Given the description of an element on the screen output the (x, y) to click on. 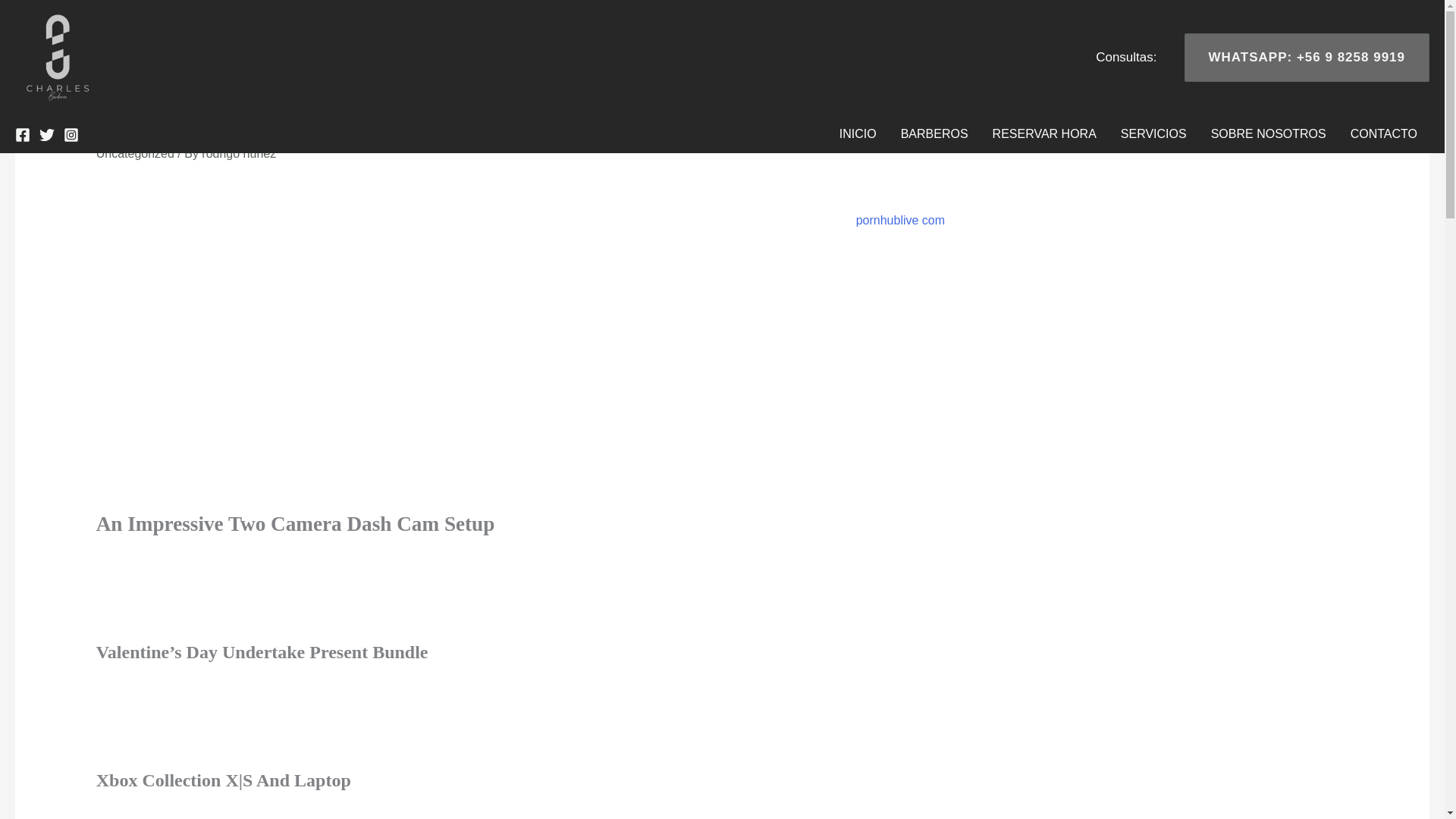
RESERVAR HORA (1043, 134)
rodrigo nunez (239, 153)
SERVICIOS (1153, 134)
CONTACTO (1383, 134)
BARBEROS (933, 134)
INICIO (857, 134)
View all posts by rodrigo nunez (239, 153)
pornhublive com (900, 219)
Uncategorized (135, 153)
SOBRE NOSOTROS (1268, 134)
